Given the description of an element on the screen output the (x, y) to click on. 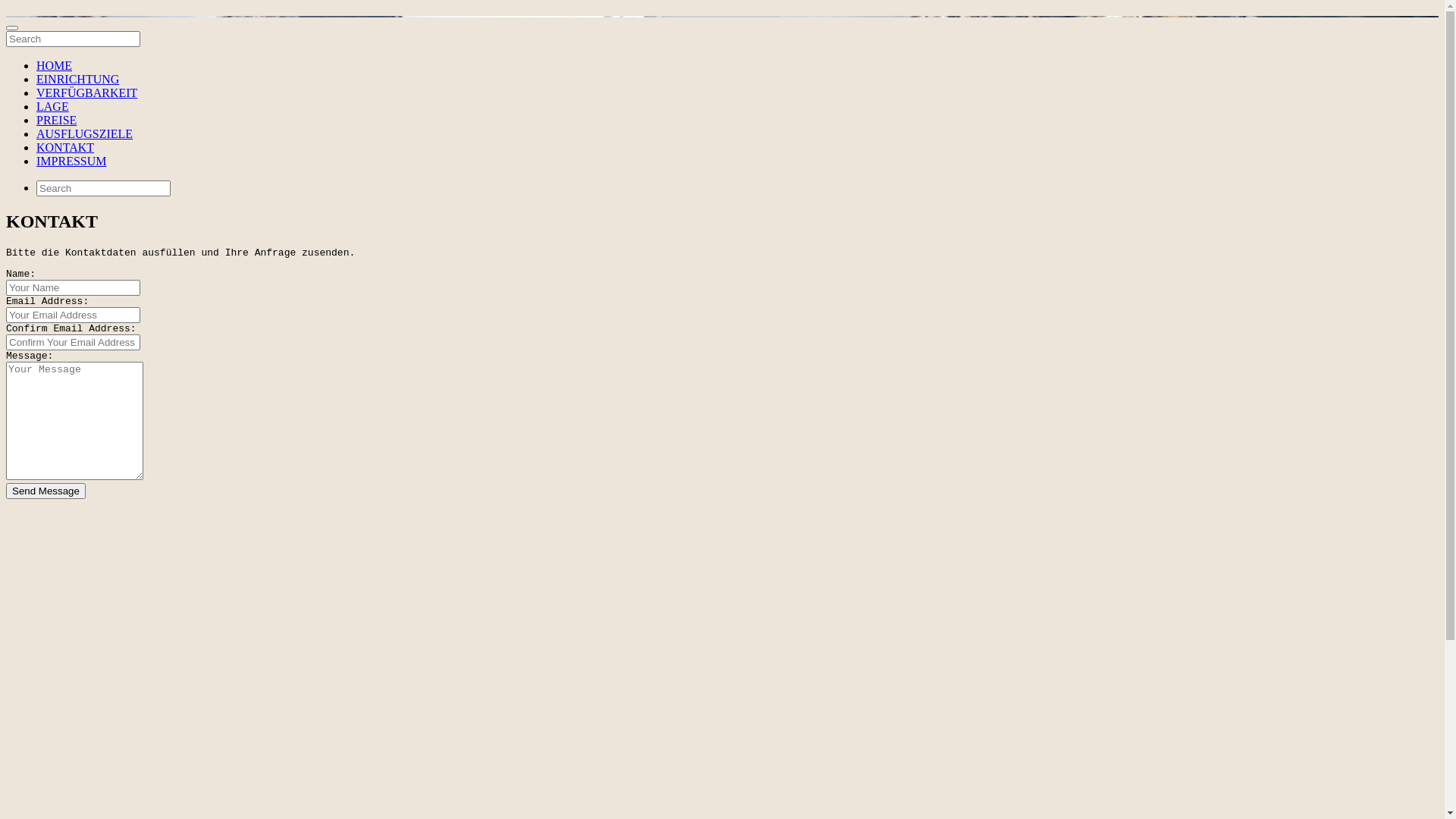
HOME Element type: text (54, 65)
EINRICHTUNG Element type: text (77, 78)
Send Message Element type: text (45, 490)
AUSFLUGSZIELE Element type: text (84, 133)
PREISE Element type: text (56, 119)
IMPRESSUM Element type: text (71, 160)
KONTAKT Element type: text (65, 147)
LAGE Element type: text (52, 106)
